Given the description of an element on the screen output the (x, y) to click on. 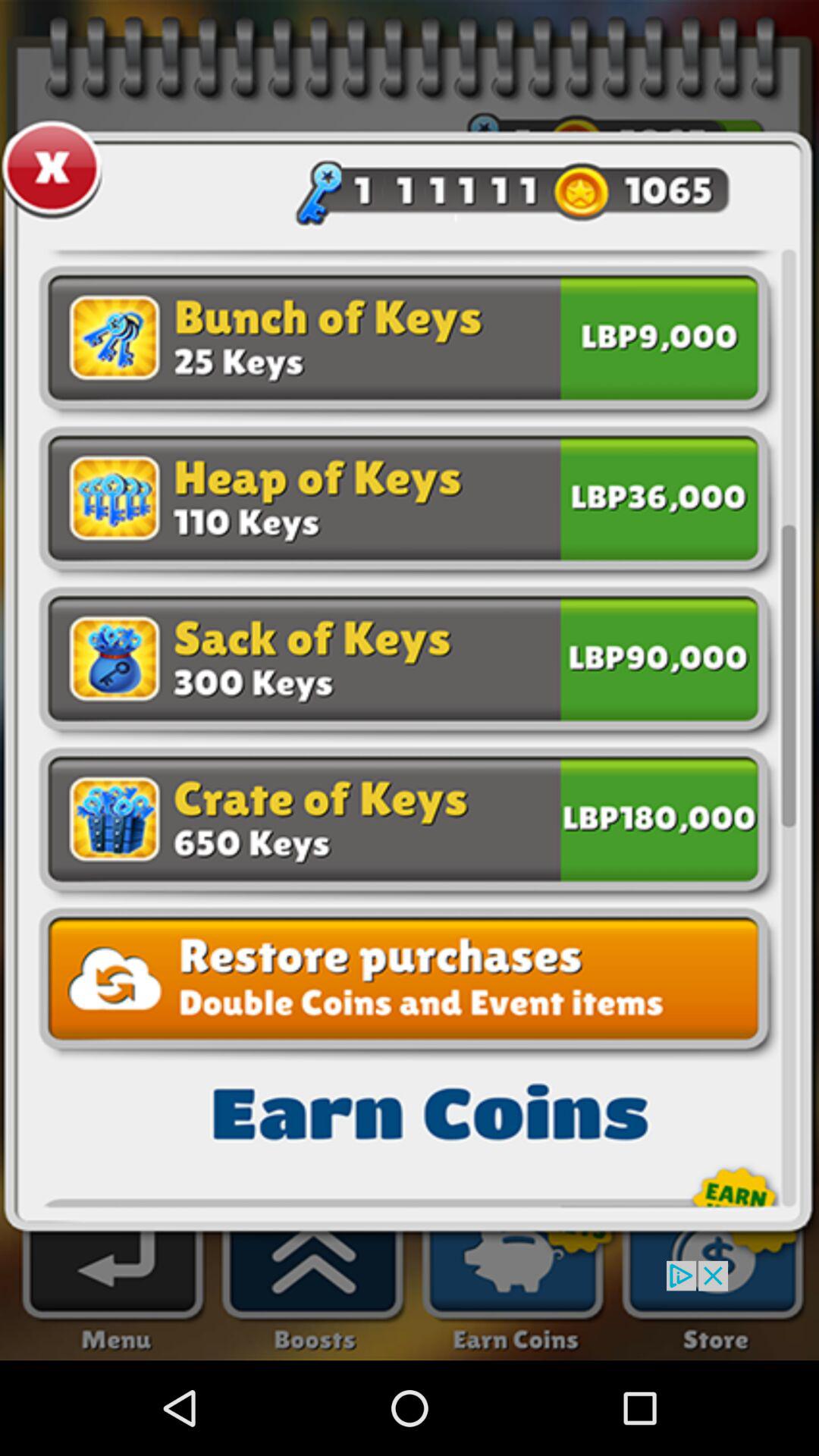
purchase 25 keys (659, 341)
